Given the description of an element on the screen output the (x, y) to click on. 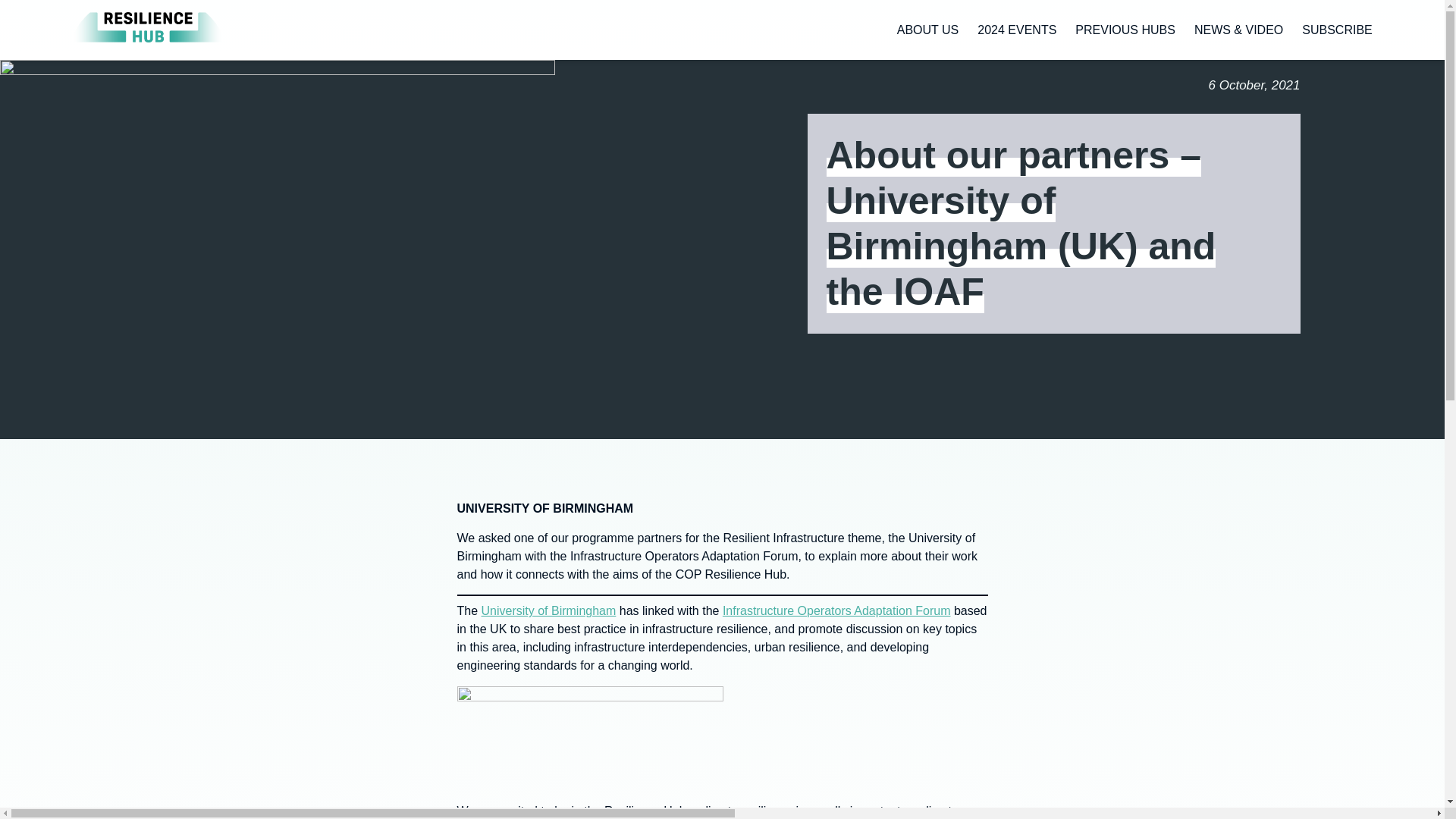
PREVIOUS HUBS (1134, 30)
Infrastructure Operators Adaptation Forum (836, 610)
2024 EVENTS (1025, 30)
SUBSCRIBE (1336, 30)
University of Birmingham (548, 610)
ABOUT US (937, 30)
